Given the description of an element on the screen output the (x, y) to click on. 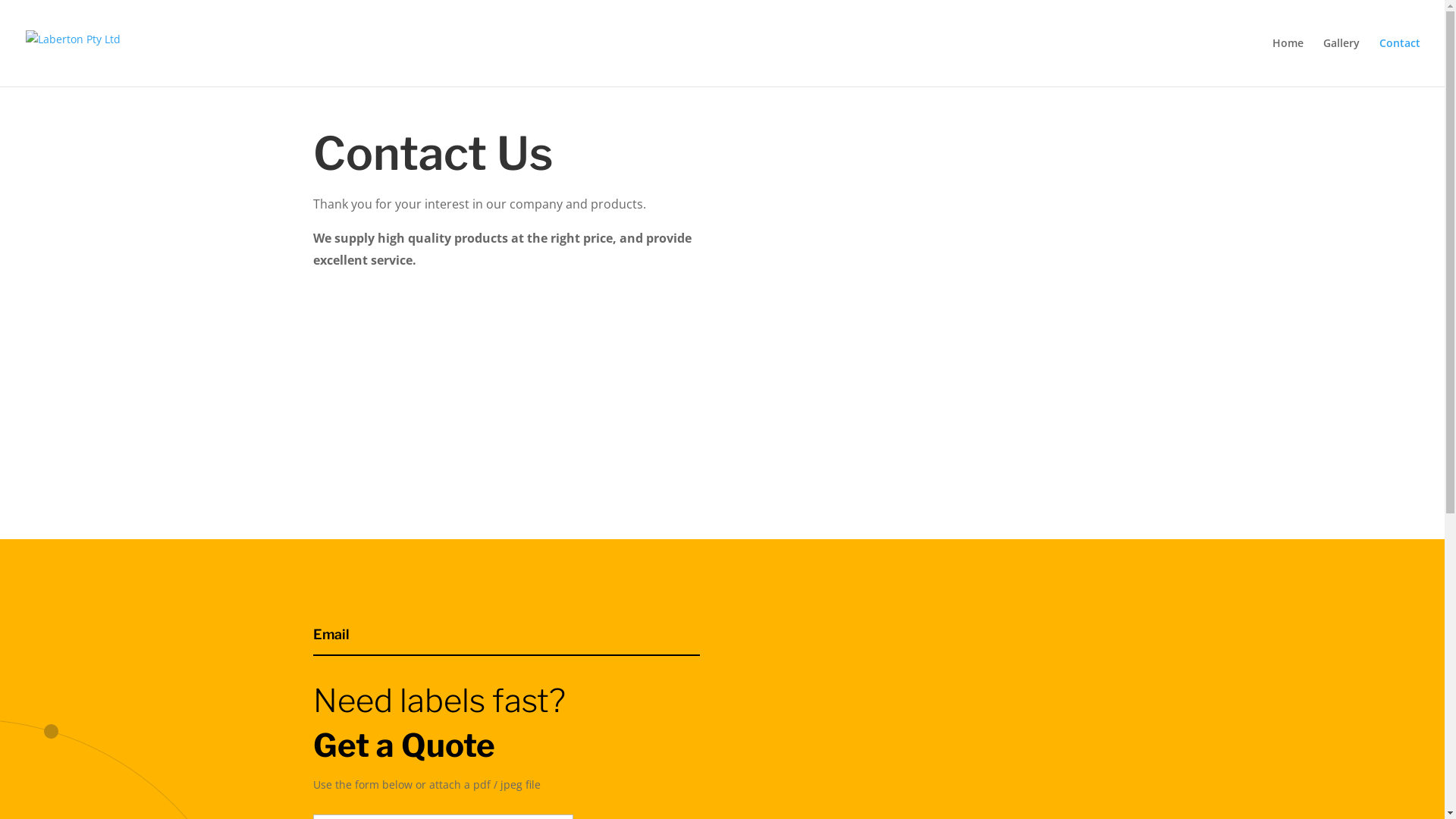
Contact Element type: text (1399, 61)
Home Element type: text (1287, 61)
Gallery Element type: text (1341, 61)
